Given the description of an element on the screen output the (x, y) to click on. 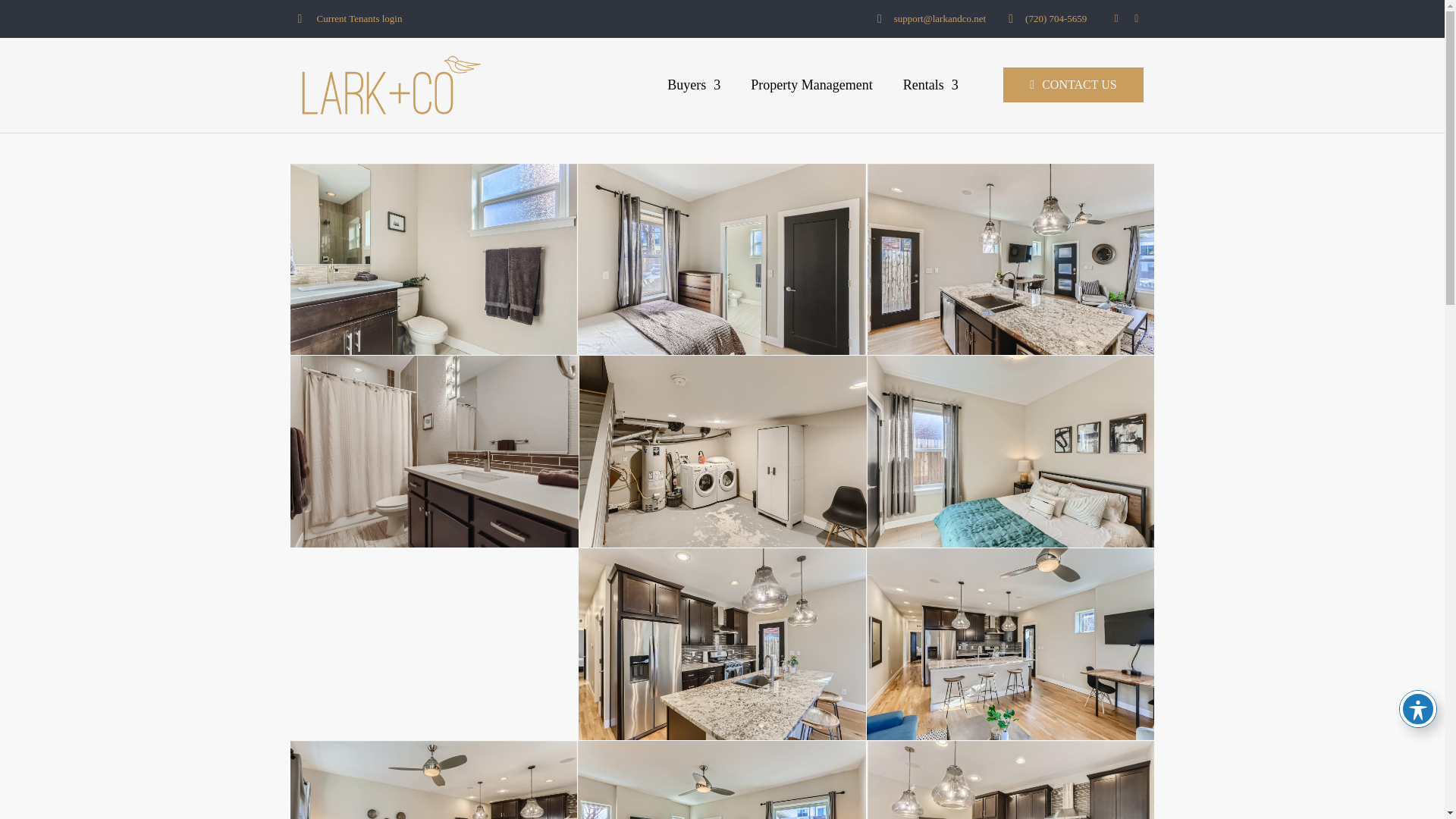
CONTACT US (1072, 84)
Buyers (693, 84)
Current Tenants login (349, 18)
Rentals (931, 84)
Property Management (810, 84)
